Given the description of an element on the screen output the (x, y) to click on. 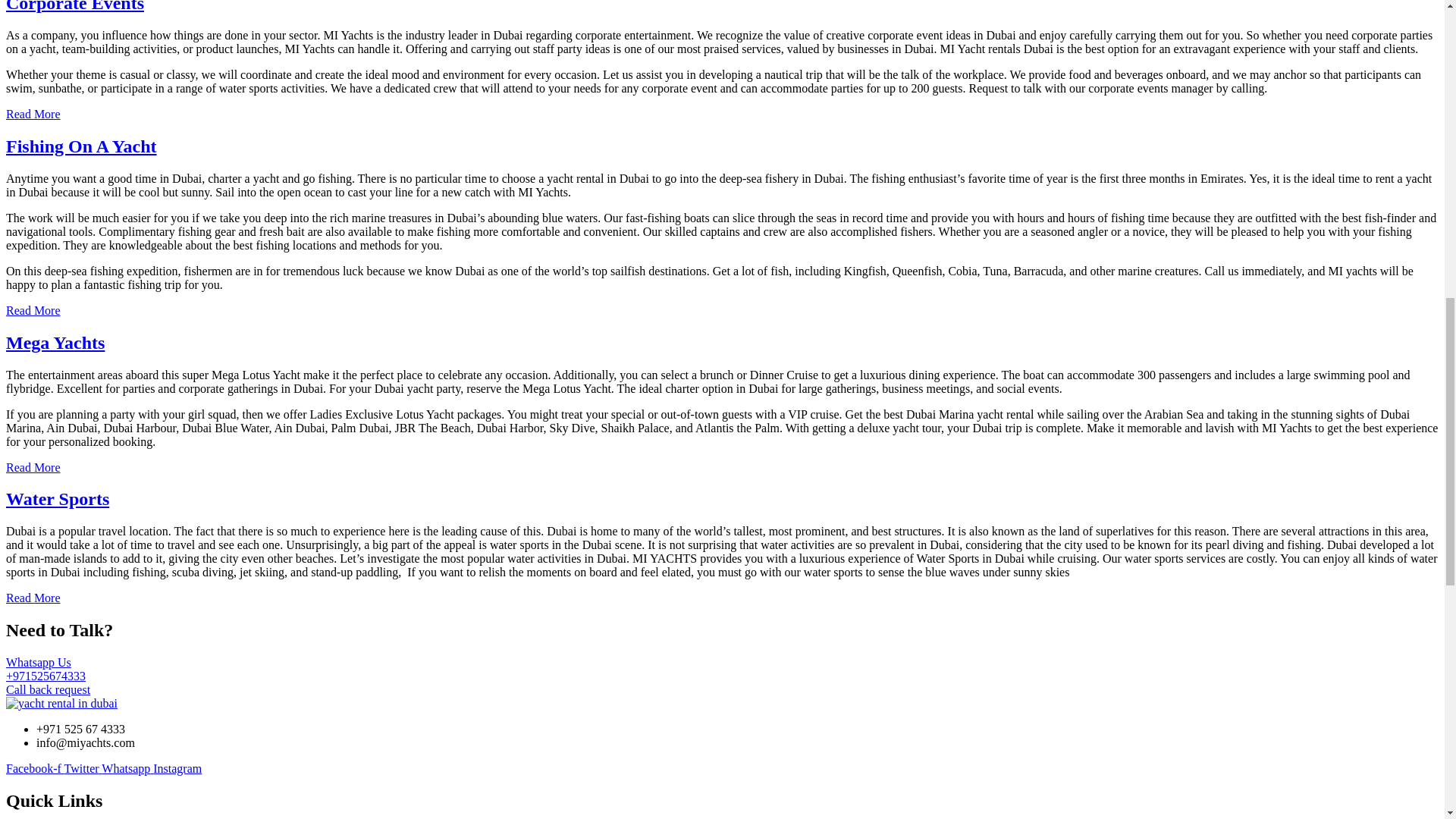
Corporate Events (74, 6)
Call back request (47, 689)
Facebook-f (34, 768)
Read More (33, 309)
Read More (33, 597)
Whatsapp Us (38, 662)
Read More (33, 467)
Water Sports (57, 498)
Read More (33, 113)
Fishing On A Yacht (81, 146)
Mega Yachts (54, 342)
